Given the description of an element on the screen output the (x, y) to click on. 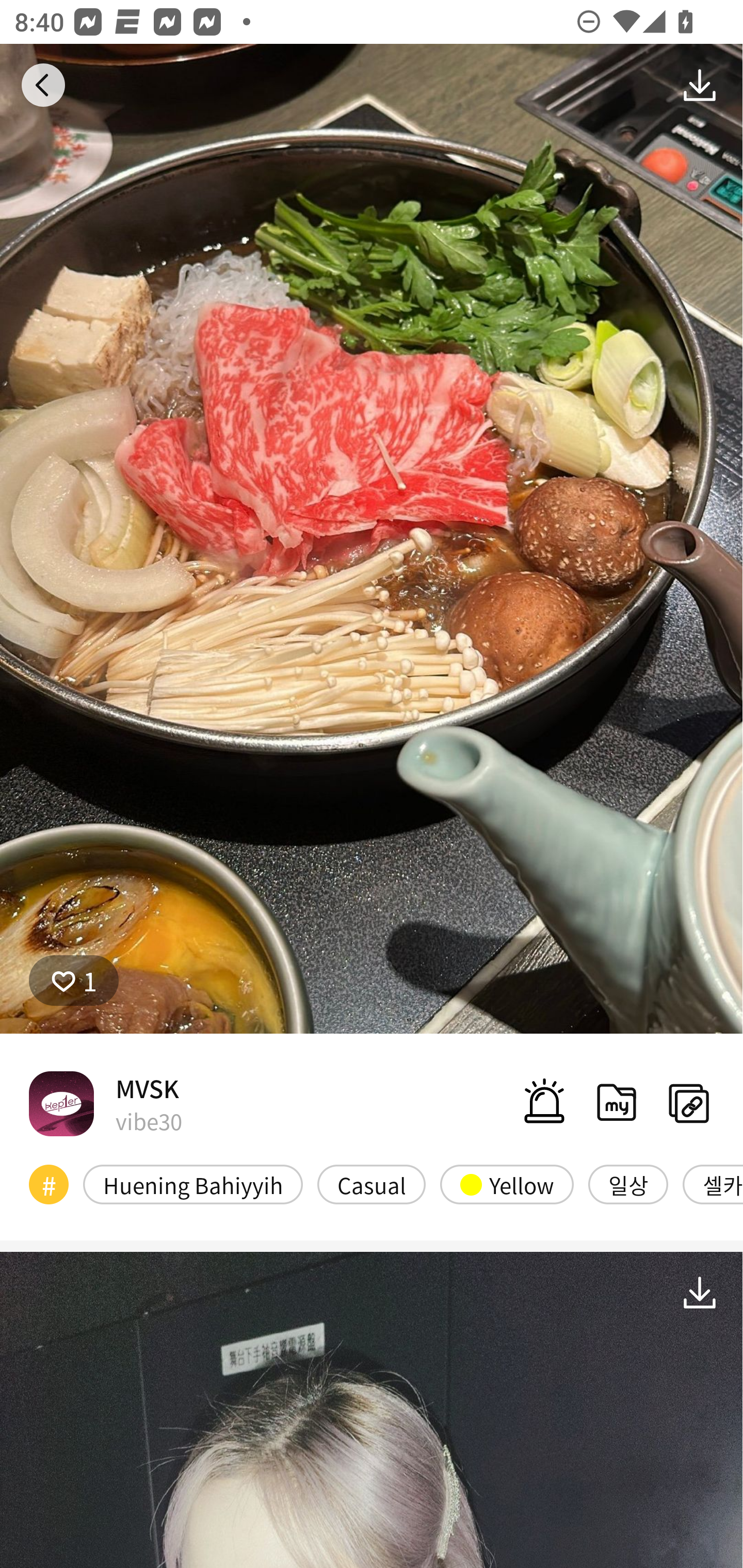
1 (73, 980)
MVSK vibe30 (105, 1102)
Huening Bahiyyih (193, 1184)
Casual (371, 1184)
Yellow (506, 1184)
일상 (627, 1184)
셀카 (712, 1184)
